Given the description of an element on the screen output the (x, y) to click on. 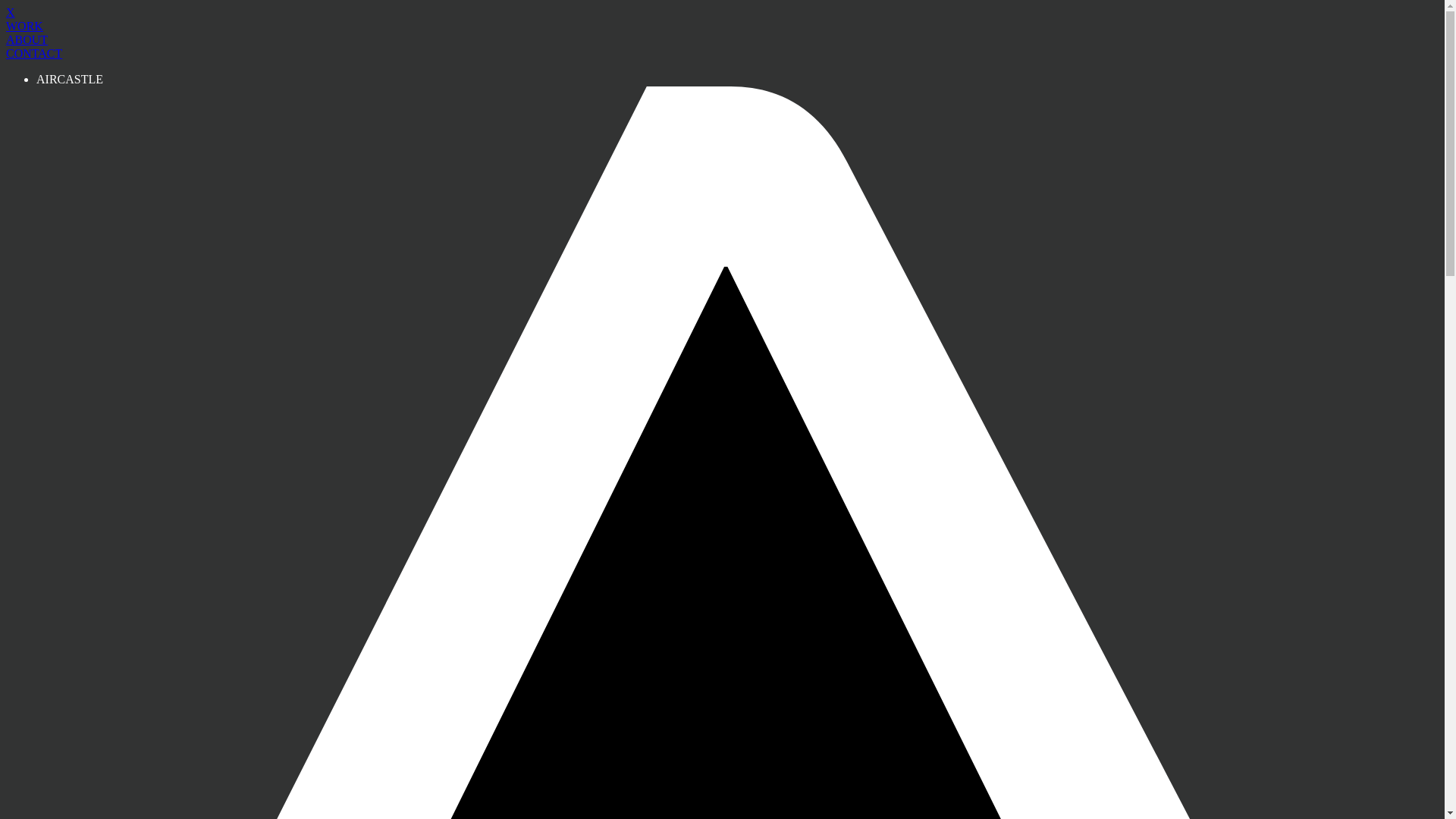
CONTACT Element type: text (34, 53)
WORK Element type: text (24, 25)
ABOUT Element type: text (26, 39)
X Element type: text (10, 12)
